Given the description of an element on the screen output the (x, y) to click on. 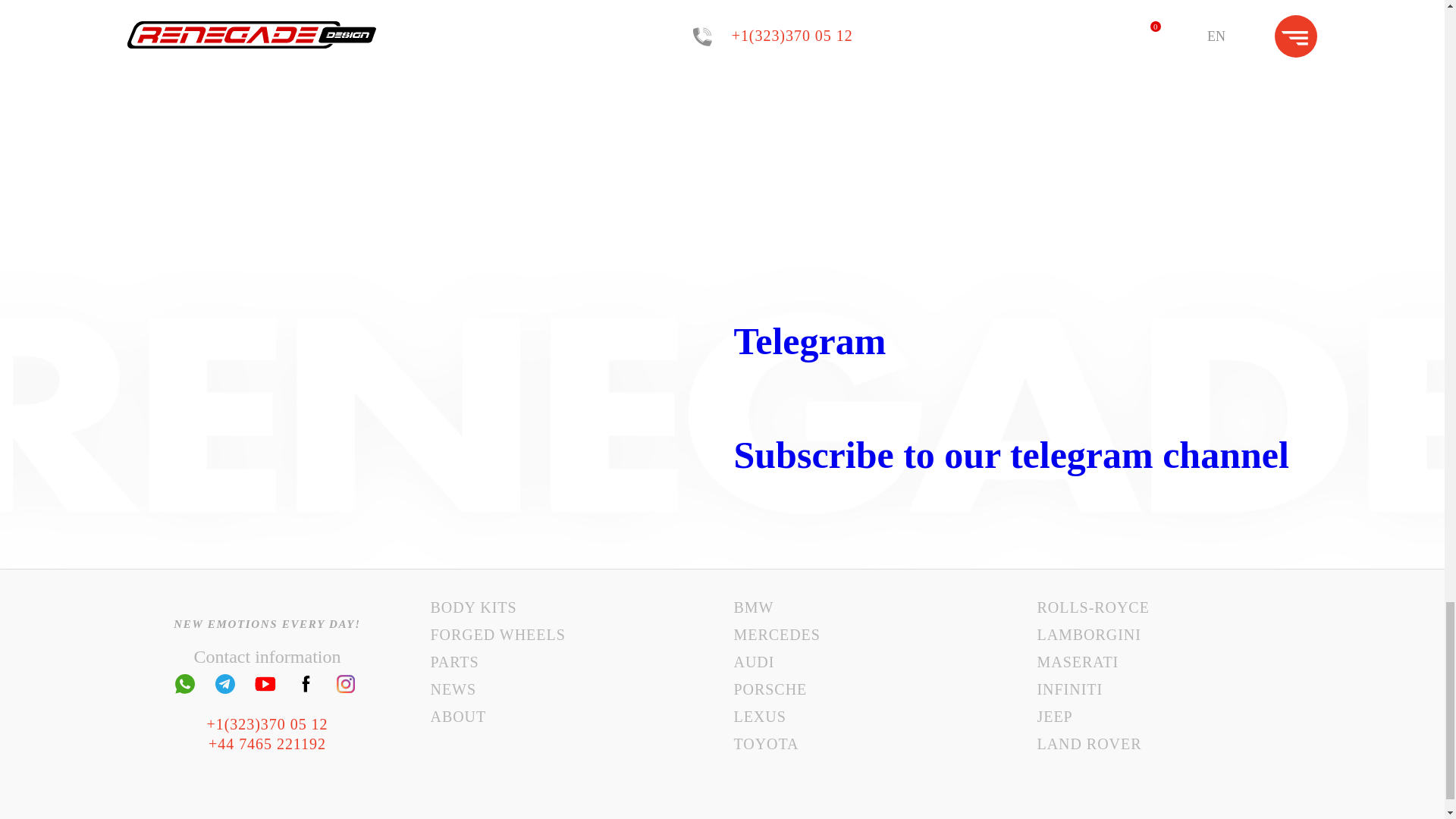
youtube of renegade (265, 684)
instagram of renegade (345, 684)
telegram of renegade (224, 684)
whatsApp (185, 684)
facebook of renegade (304, 684)
